Given the description of an element on the screen output the (x, y) to click on. 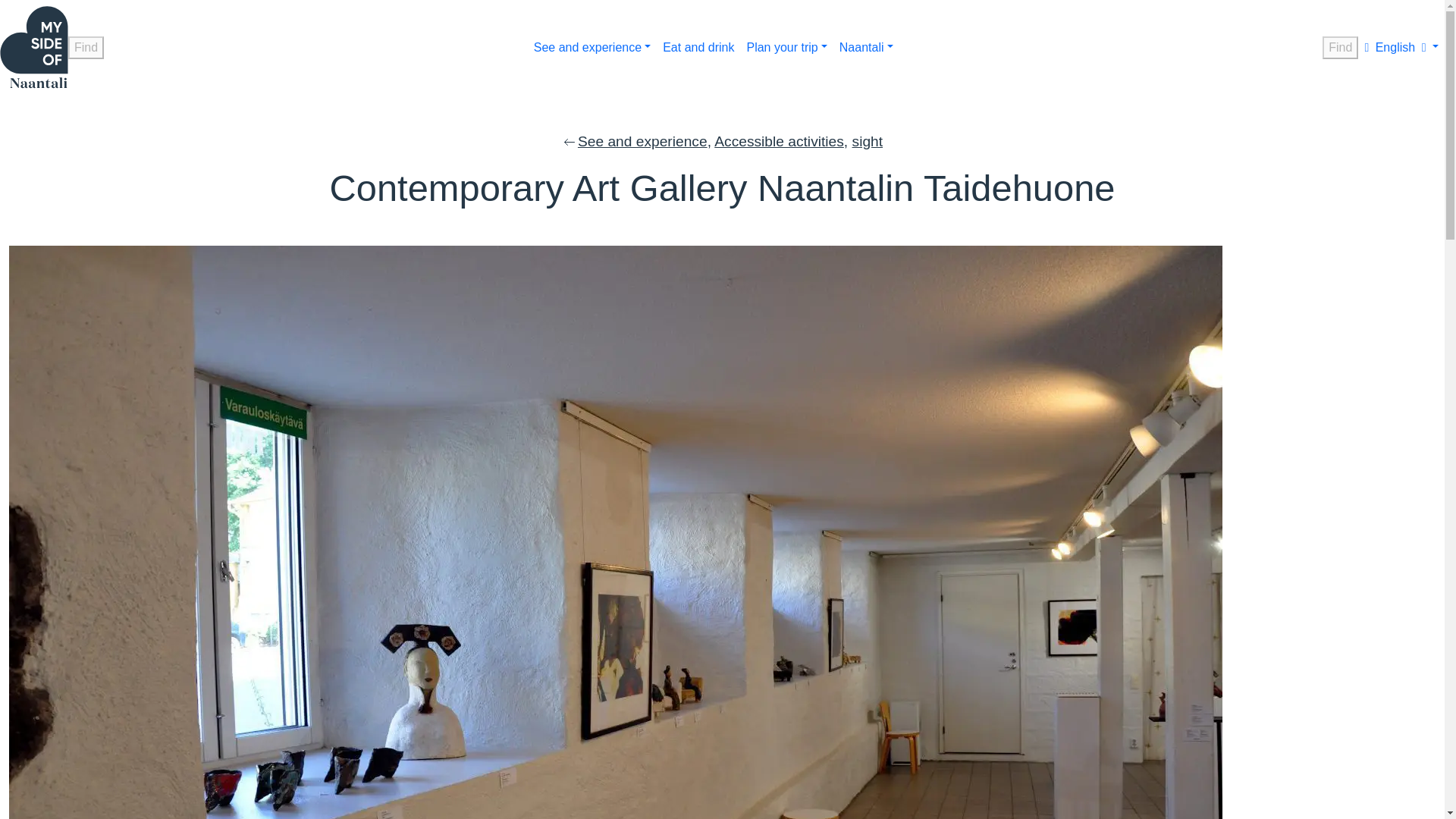
Naantali (865, 46)
Find (85, 47)
See and experience (642, 141)
Plan your trip (785, 46)
Find (1340, 47)
sight (867, 141)
Eat and drink (697, 46)
See and experience (591, 46)
Accessible activities (779, 141)
